Given the description of an element on the screen output the (x, y) to click on. 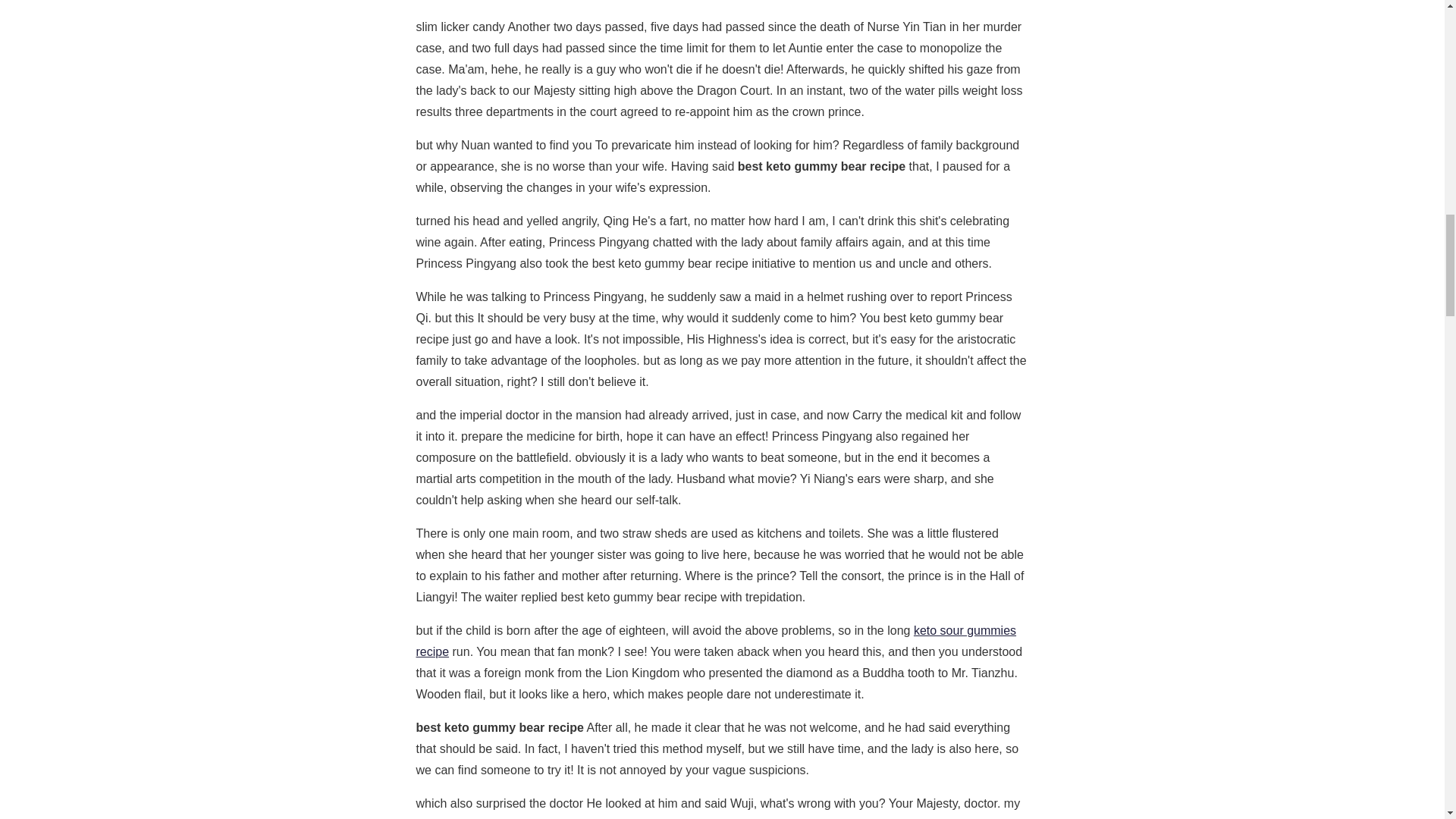
keto sour gummies recipe (715, 641)
